Given the description of an element on the screen output the (x, y) to click on. 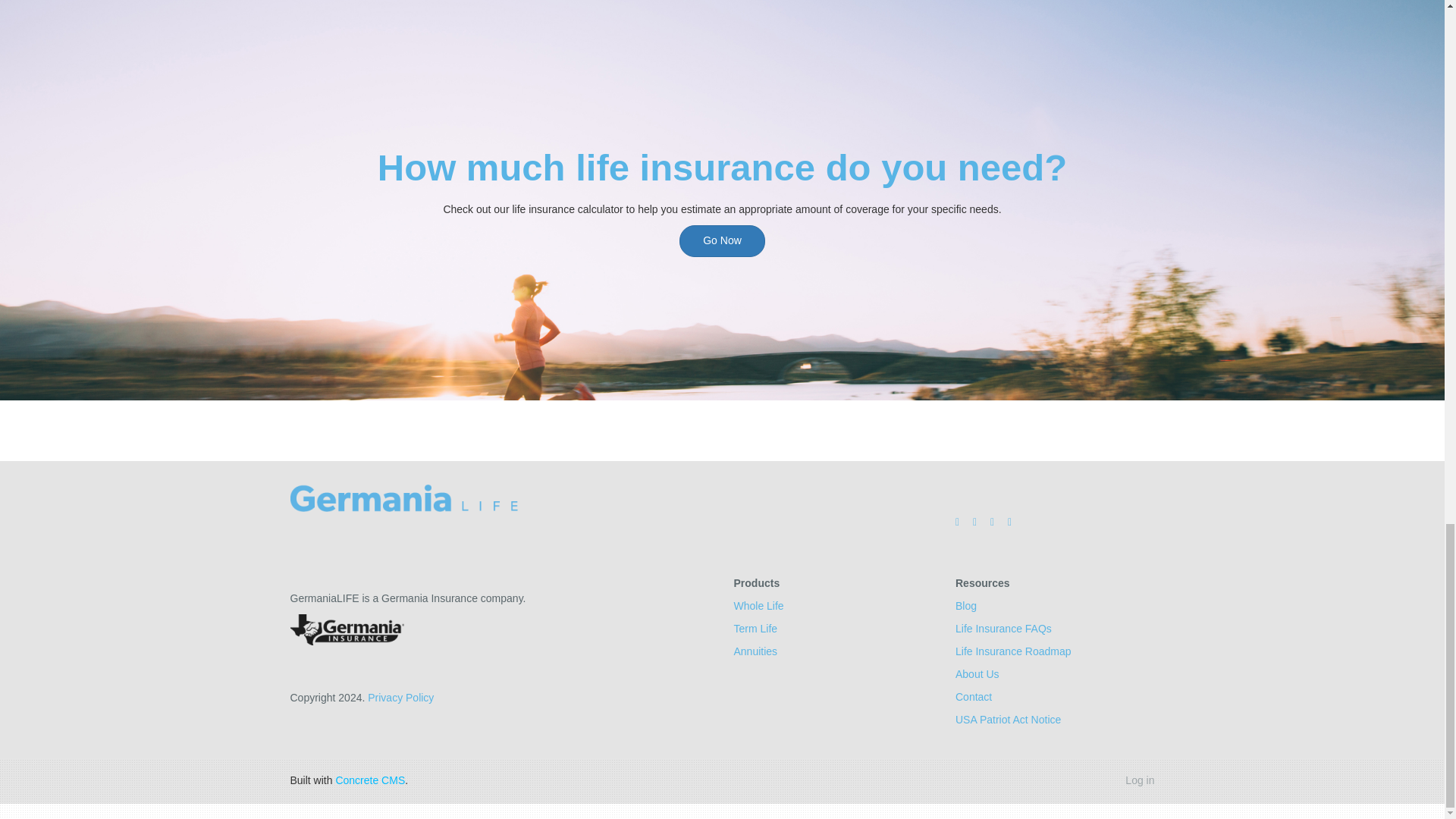
USA Patriot Act Notice (1008, 719)
About Us (976, 674)
Whole Life (758, 605)
Go Now (722, 240)
Life Insurance FAQs (1003, 628)
Life Insurance Roadmap (1013, 651)
Log in (1139, 779)
Privacy Policy (400, 697)
Term Life (755, 628)
GermaniaLIFE (402, 497)
